Given the description of an element on the screen output the (x, y) to click on. 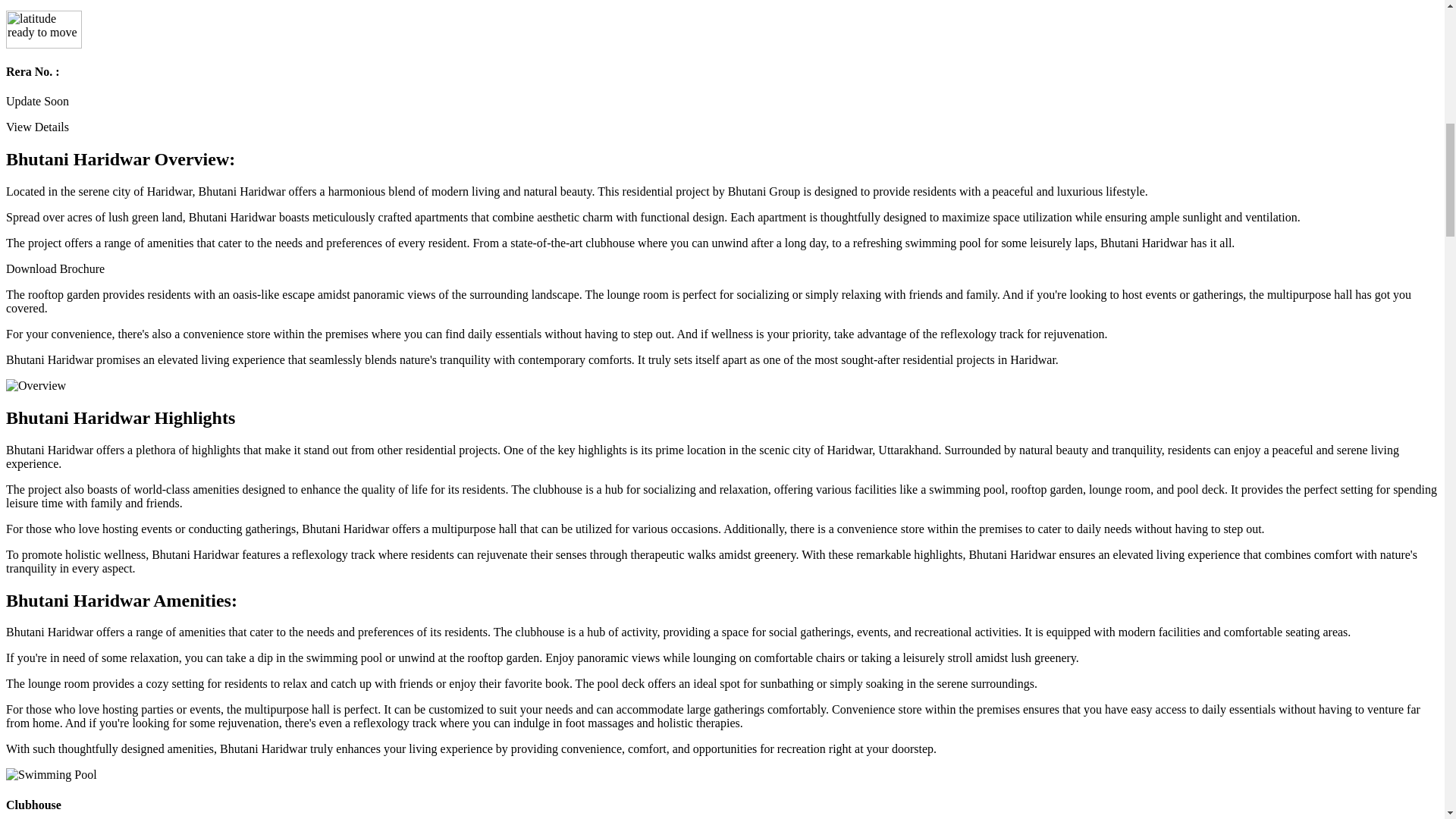
Latitude Rera (43, 29)
Download Brochure (54, 268)
View Details (36, 126)
